Given the description of an element on the screen output the (x, y) to click on. 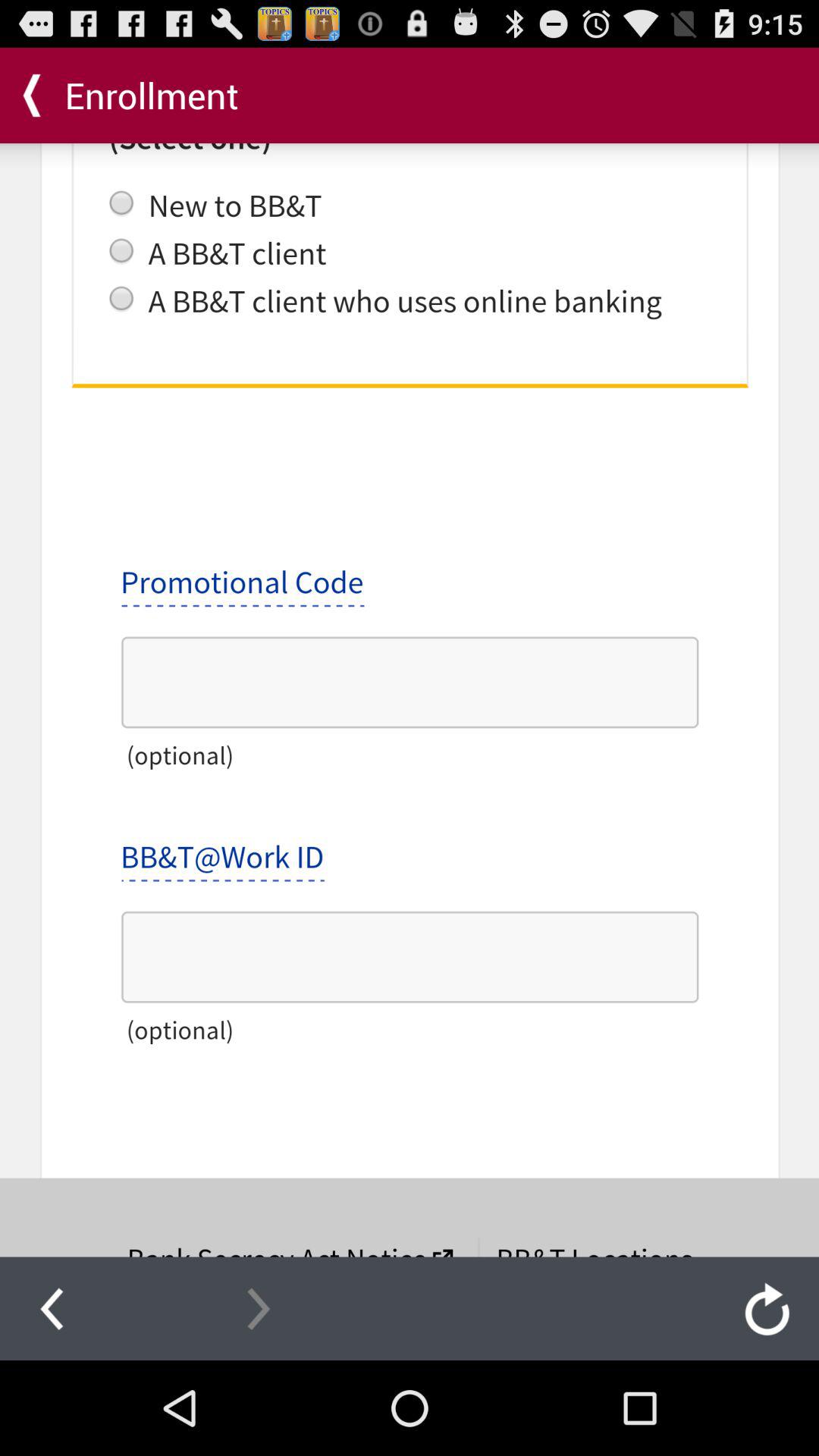
go to next (258, 1308)
